Given the description of an element on the screen output the (x, y) to click on. 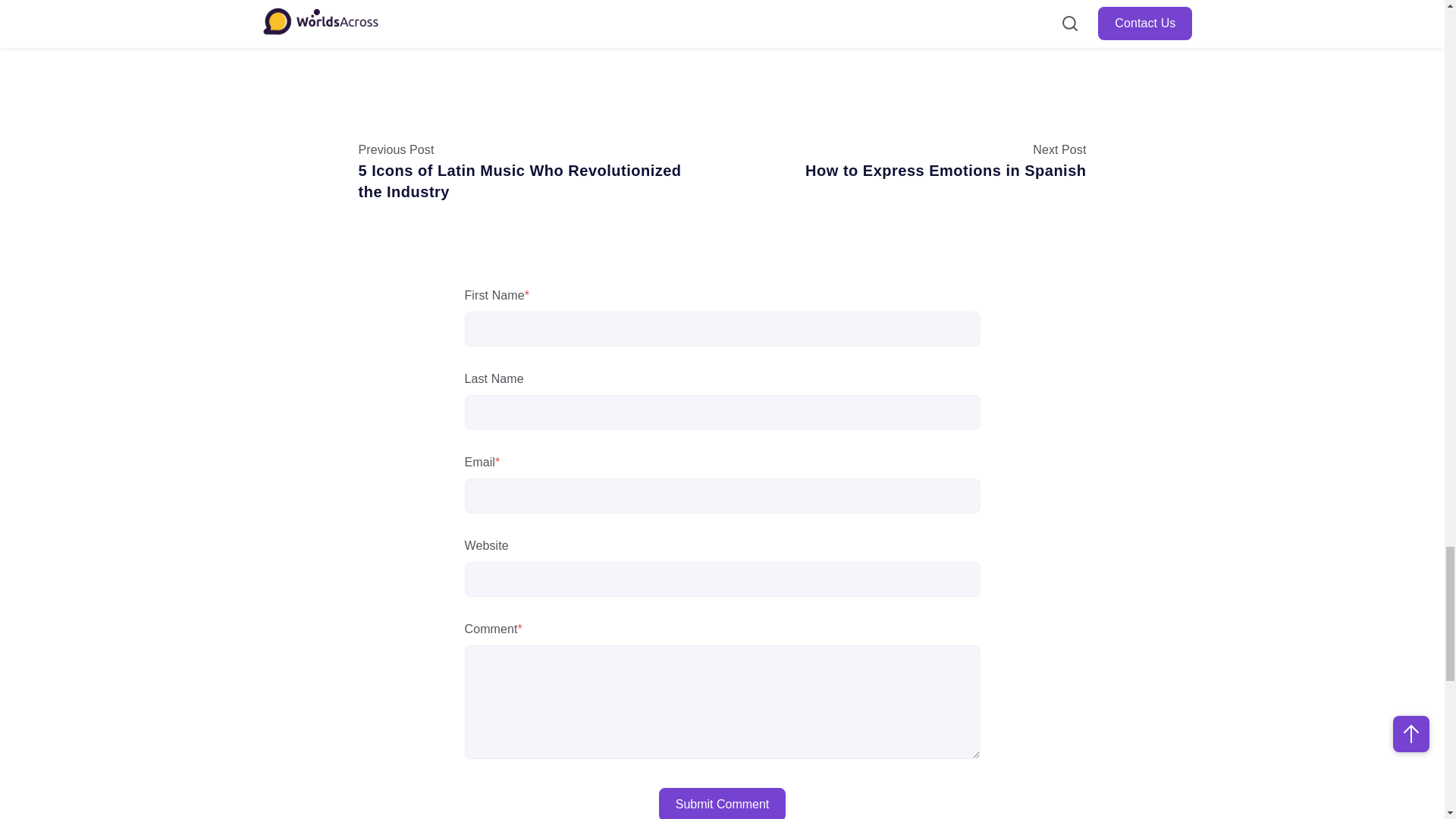
How to Express Emotions in Spanish (945, 170)
Submit Comment (722, 803)
5 Icons of Latin Music Who Revolutionized the Industry (519, 180)
Submit Comment (722, 803)
